Given the description of an element on the screen output the (x, y) to click on. 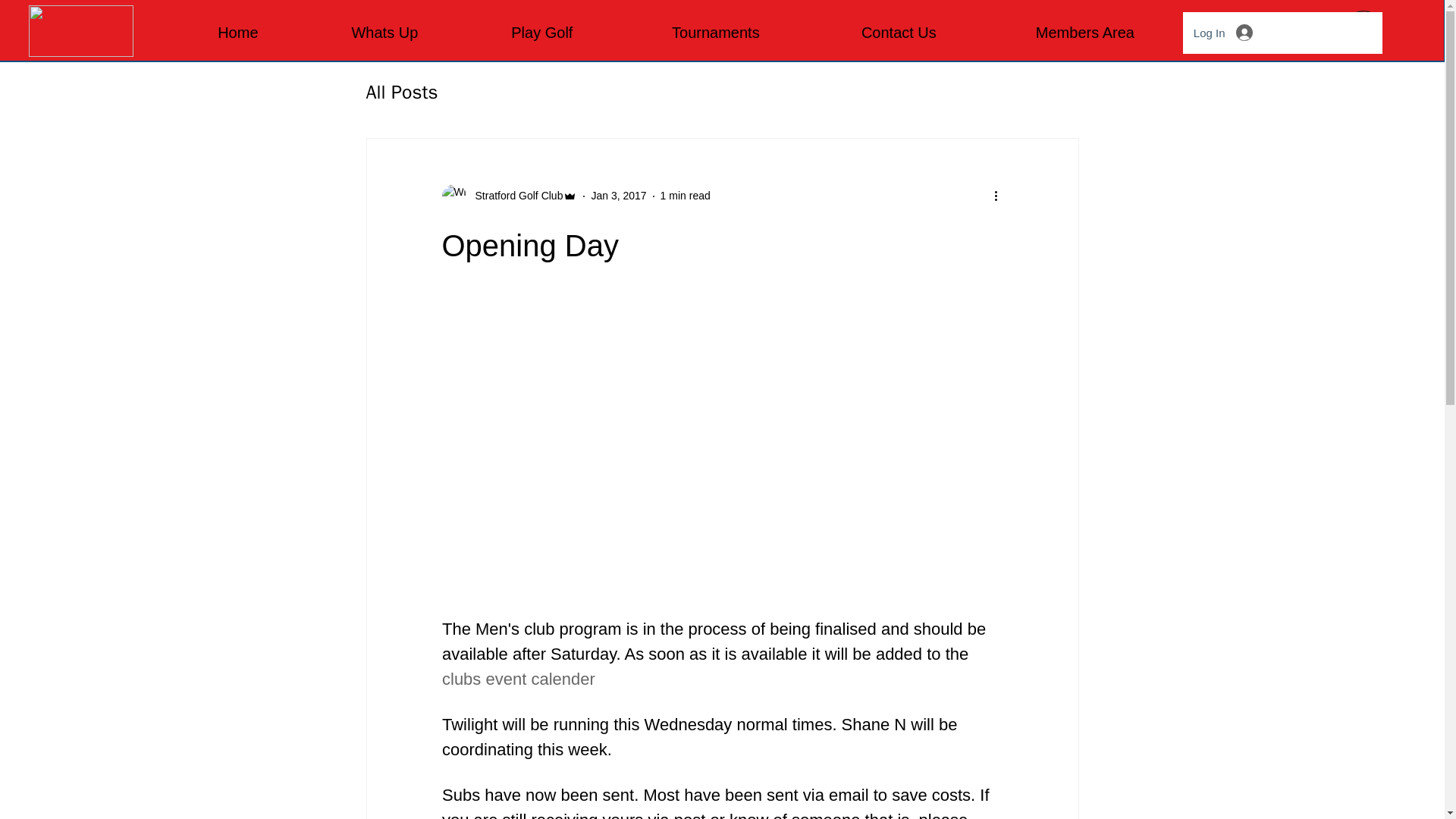
1 min read (685, 195)
All Posts (401, 91)
Stratford Golf Club (513, 195)
Members Area (1085, 32)
clubs event calender (517, 678)
Log In (1222, 32)
Stratford Golf Club (508, 195)
Home (237, 32)
Contact Us (898, 32)
Jan 3, 2017 (618, 195)
